Given the description of an element on the screen output the (x, y) to click on. 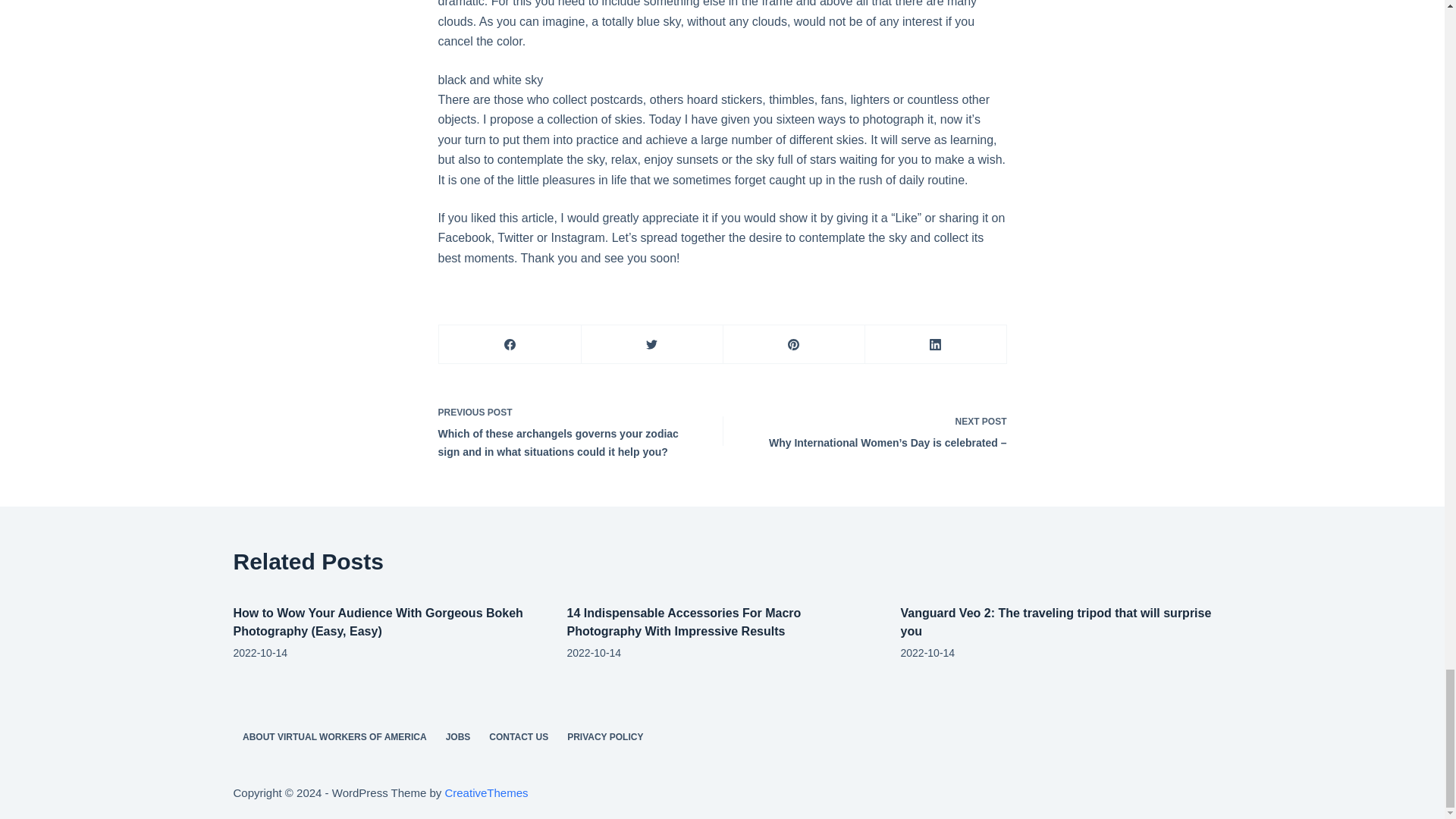
JOBS (457, 737)
PRIVACY POLICY (604, 737)
CreativeThemes (485, 792)
ABOUT VIRTUAL WORKERS OF AMERICA (334, 737)
CONTACT US (518, 737)
Vanguard Veo 2: The traveling tripod that will surprise you (1056, 622)
